Given the description of an element on the screen output the (x, y) to click on. 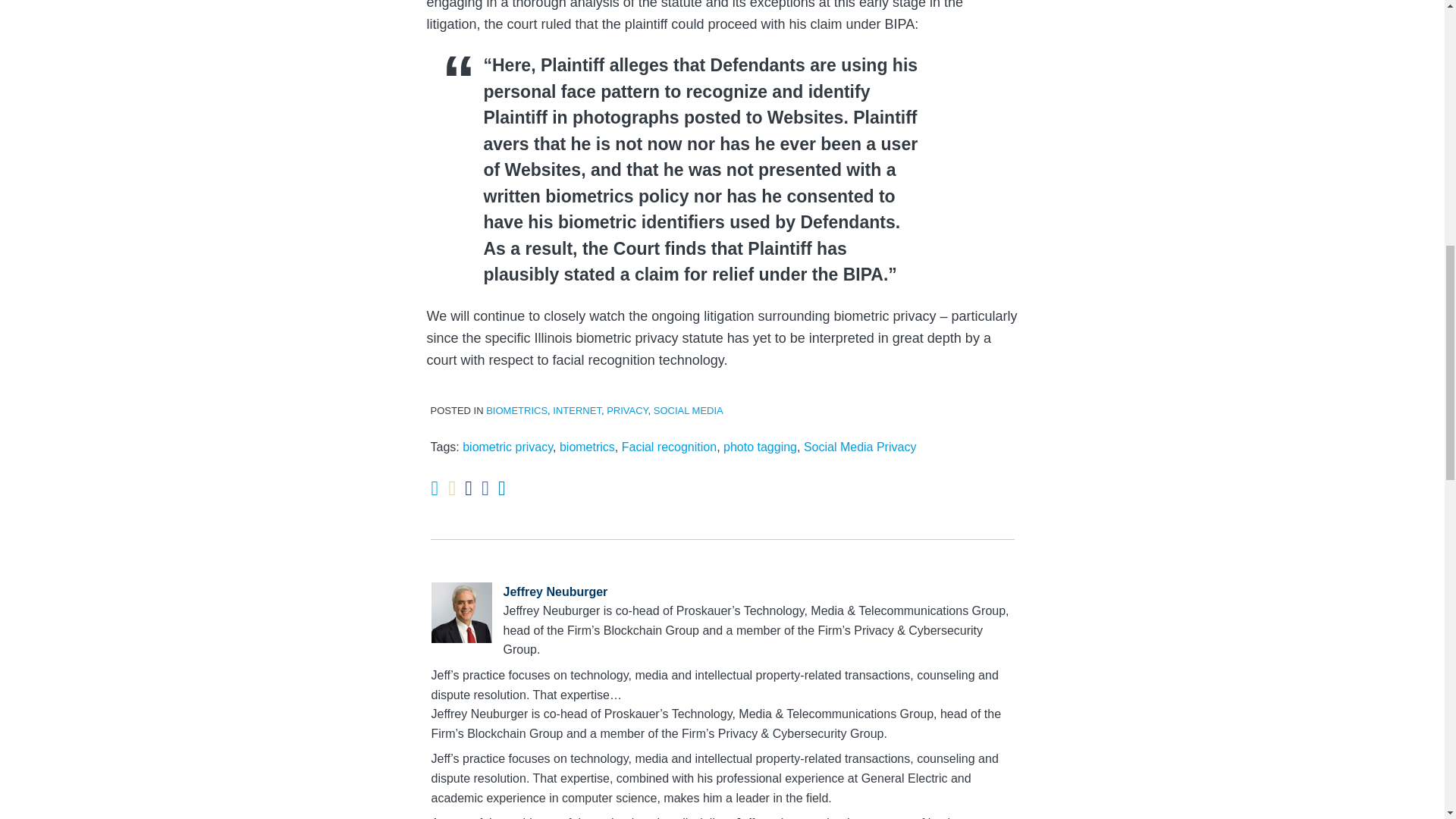
BIOMETRICS (516, 410)
biometrics (586, 446)
Facial recognition (668, 446)
biometric privacy (508, 446)
photo tagging (759, 446)
Jeffrey Neuburger (721, 591)
Social Media Privacy (860, 446)
PRIVACY (627, 410)
SOCIAL MEDIA (688, 410)
INTERNET (577, 410)
